Given the description of an element on the screen output the (x, y) to click on. 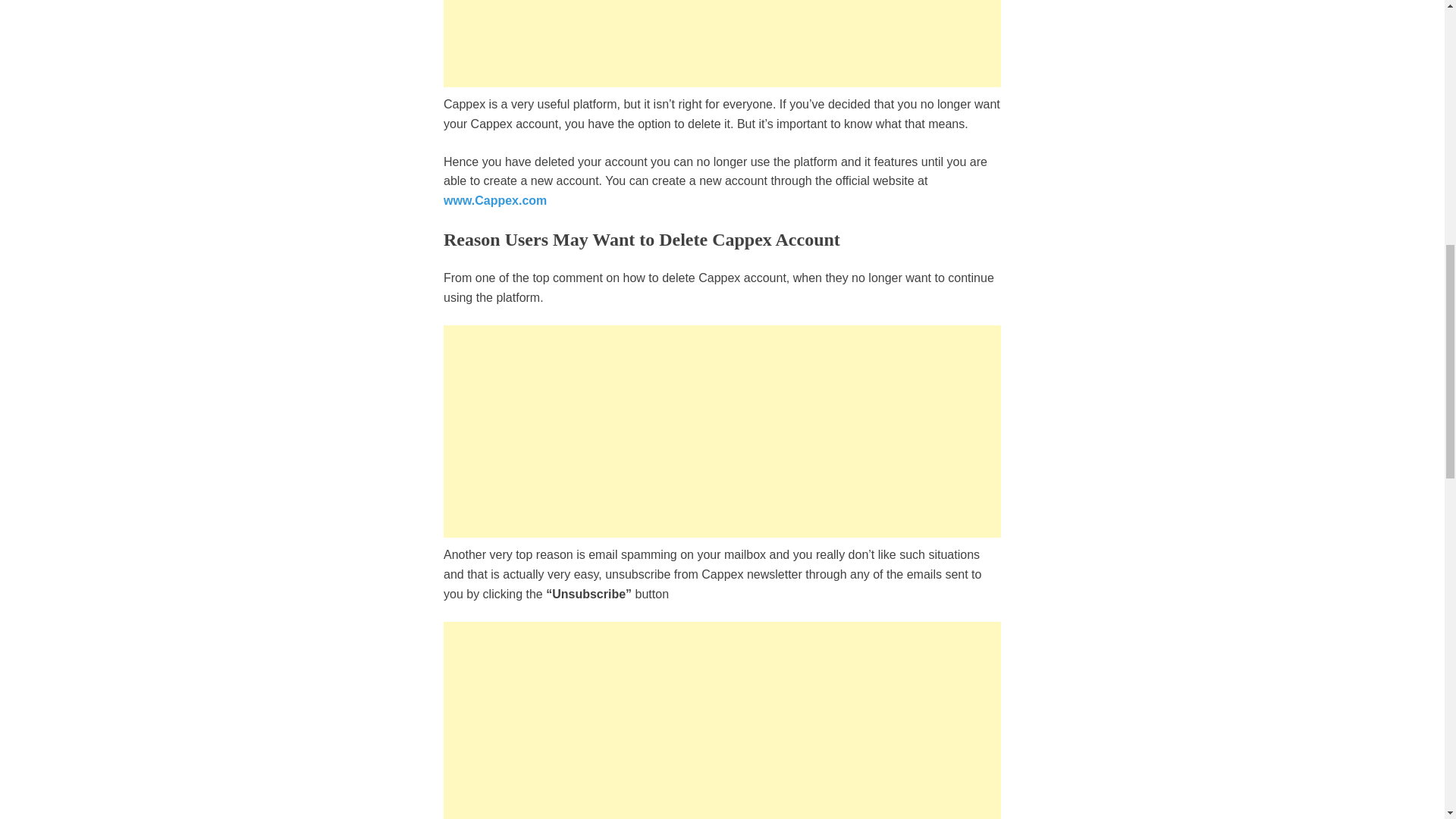
www.Cappex.com (495, 200)
